Given the description of an element on the screen output the (x, y) to click on. 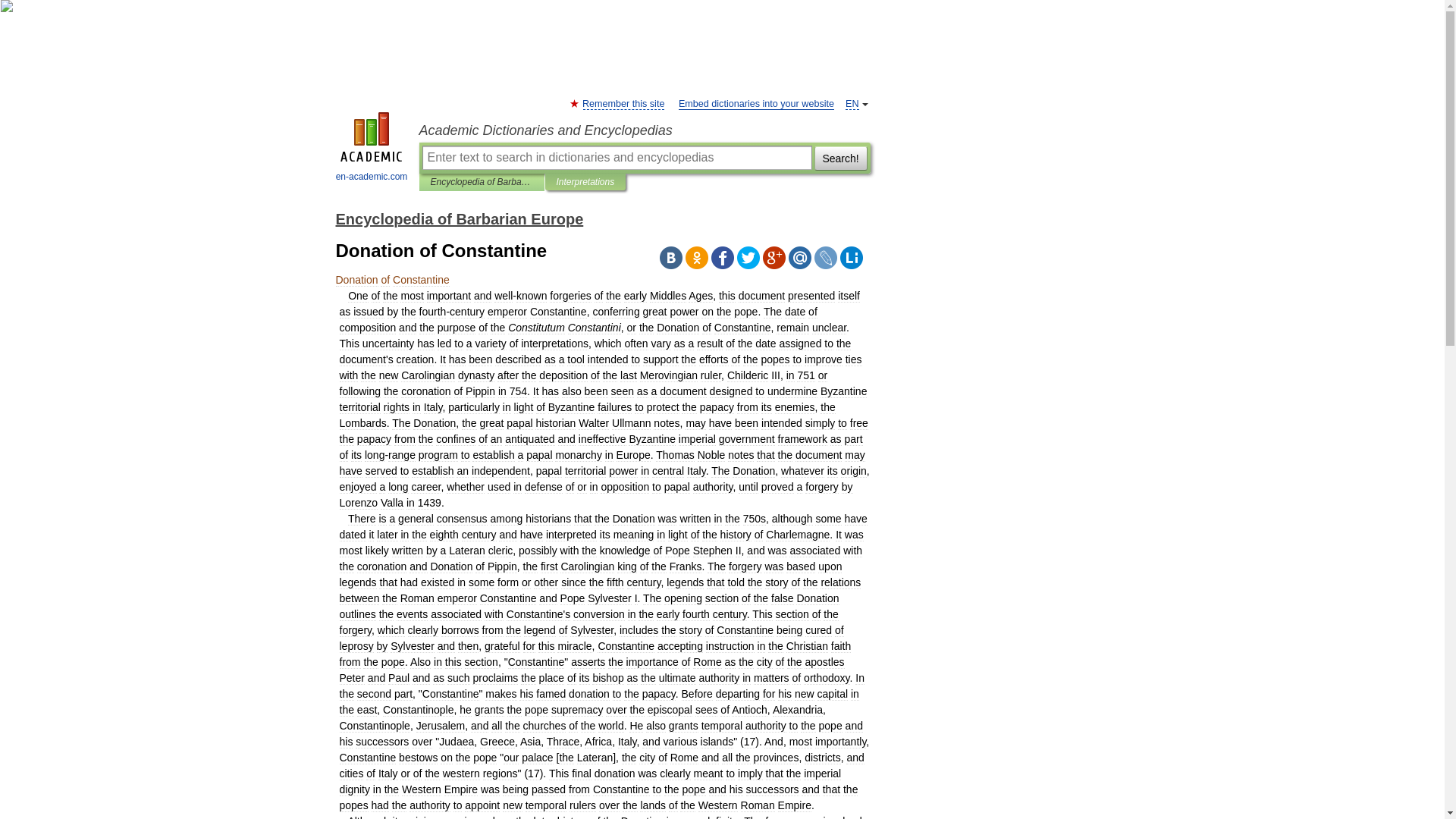
en-academic.com (371, 148)
Encyclopedia of Barbarian Europe (458, 218)
Academic Dictionaries and Encyclopedias (644, 130)
Enter text to search in dictionaries and encyclopedias (616, 157)
Search! (840, 157)
Remember this site (623, 103)
Embed dictionaries into your website (756, 103)
Interpretations (585, 181)
EN (852, 103)
Encyclopedia of Barbarian Europe (481, 181)
